Given the description of an element on the screen output the (x, y) to click on. 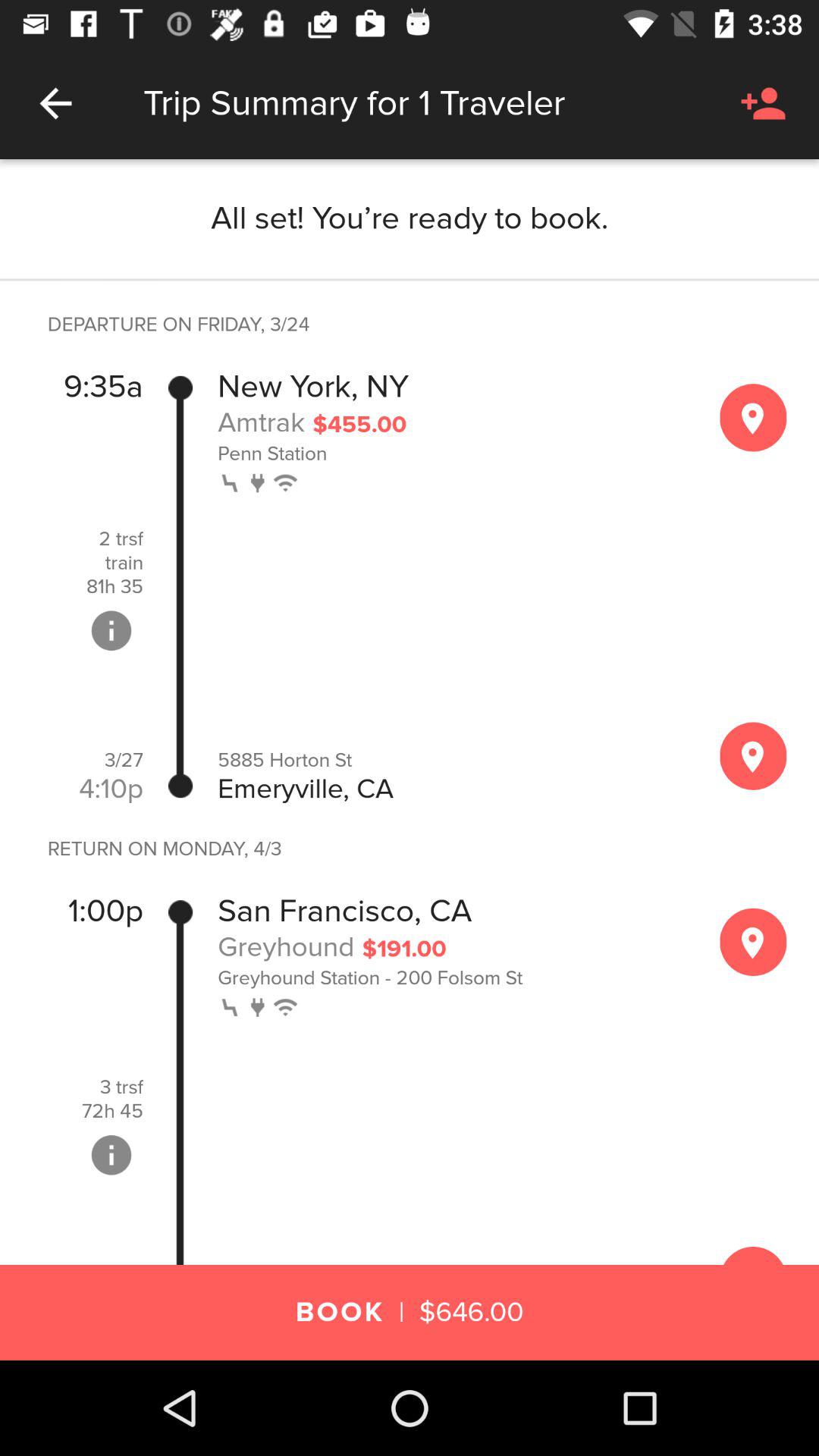
go to map (753, 417)
